Given the description of an element on the screen output the (x, y) to click on. 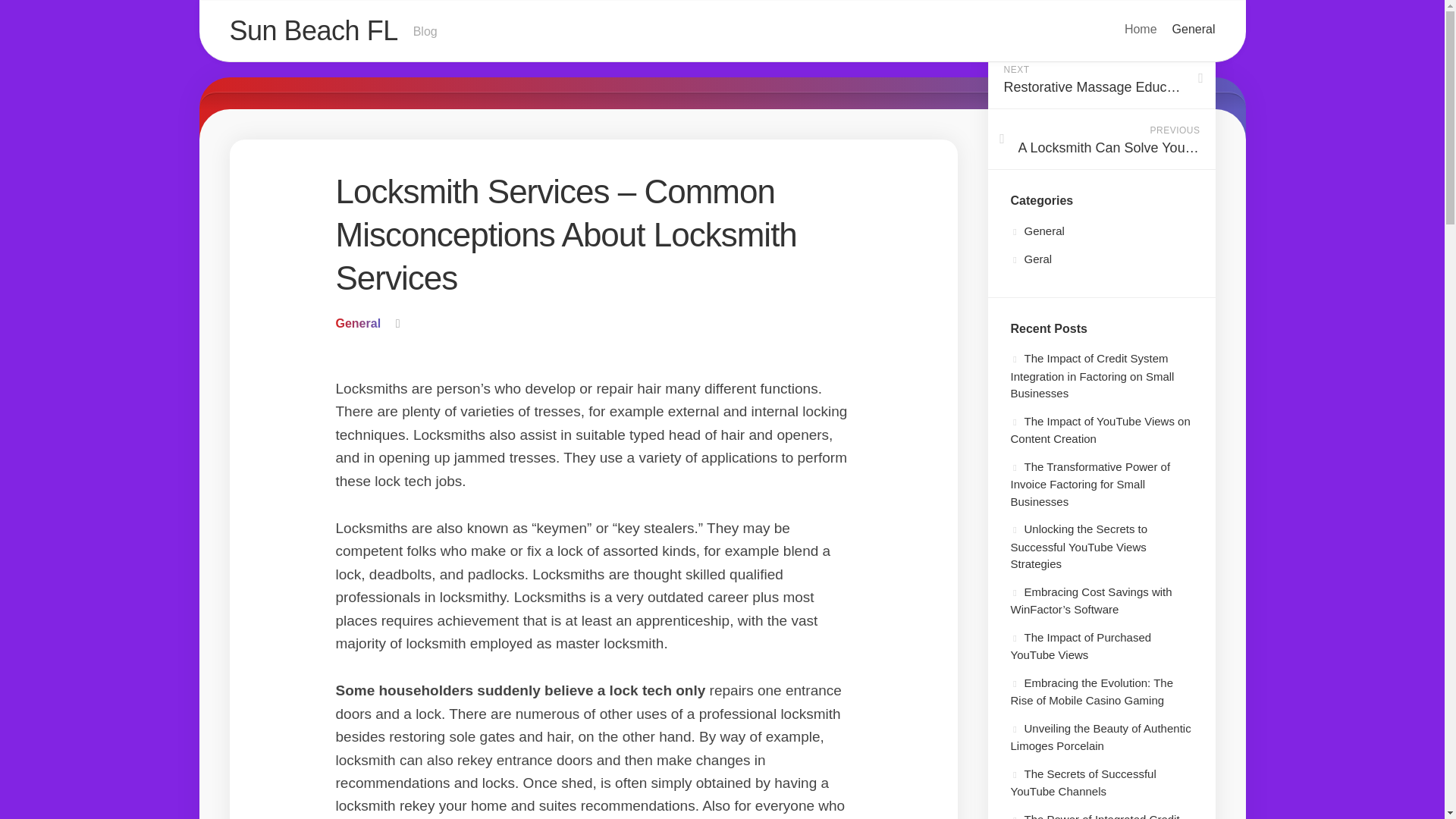
Unveiling the Beauty of Authentic Limoges Porcelain (1100, 736)
General (1037, 230)
The Impact of Purchased YouTube Views (1080, 645)
General (357, 323)
The Power of Integrated Credit Systems (1094, 816)
The Impact of YouTube Views on Content Creation (1099, 429)
Unlocking the Secrets to Successful YouTube Views Strategies (1078, 546)
Embracing the Evolution: The Rise of Mobile Casino Gaming (1091, 691)
Geral (1030, 258)
The Secrets of Successful YouTube Channels (721, 31)
Sun Beach FL (1083, 782)
